Given the description of an element on the screen output the (x, y) to click on. 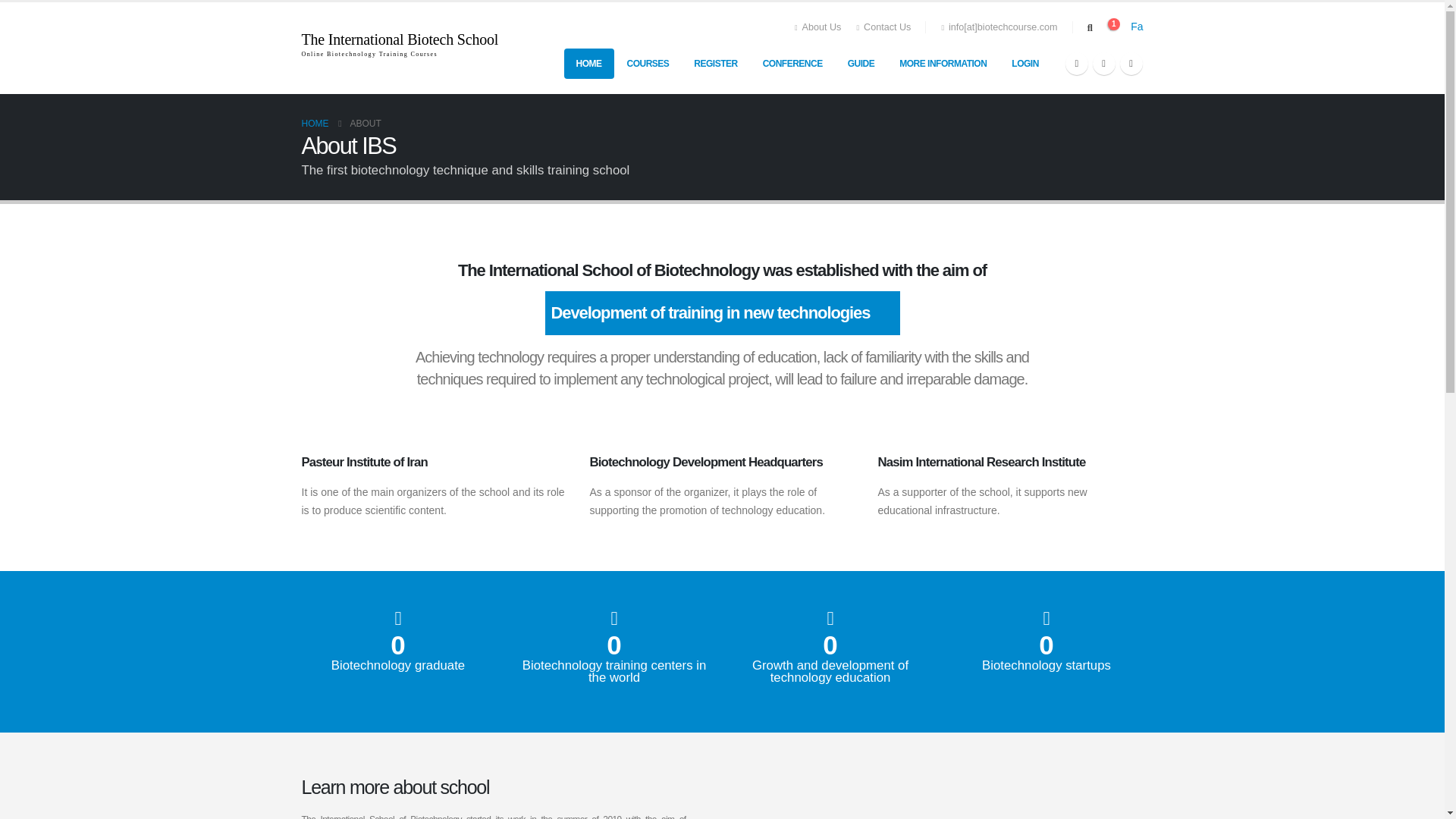
CONFERENCE (792, 63)
The International Biotech School (400, 39)
Contact Us (883, 26)
Fa (1136, 26)
linkedin (1076, 63)
REGISTER (715, 63)
instagram (1130, 63)
The International Biotech School (400, 39)
twitter (1104, 63)
Home (315, 123)
About Us (821, 26)
COURSES (647, 63)
HOME (589, 63)
